Given the description of an element on the screen output the (x, y) to click on. 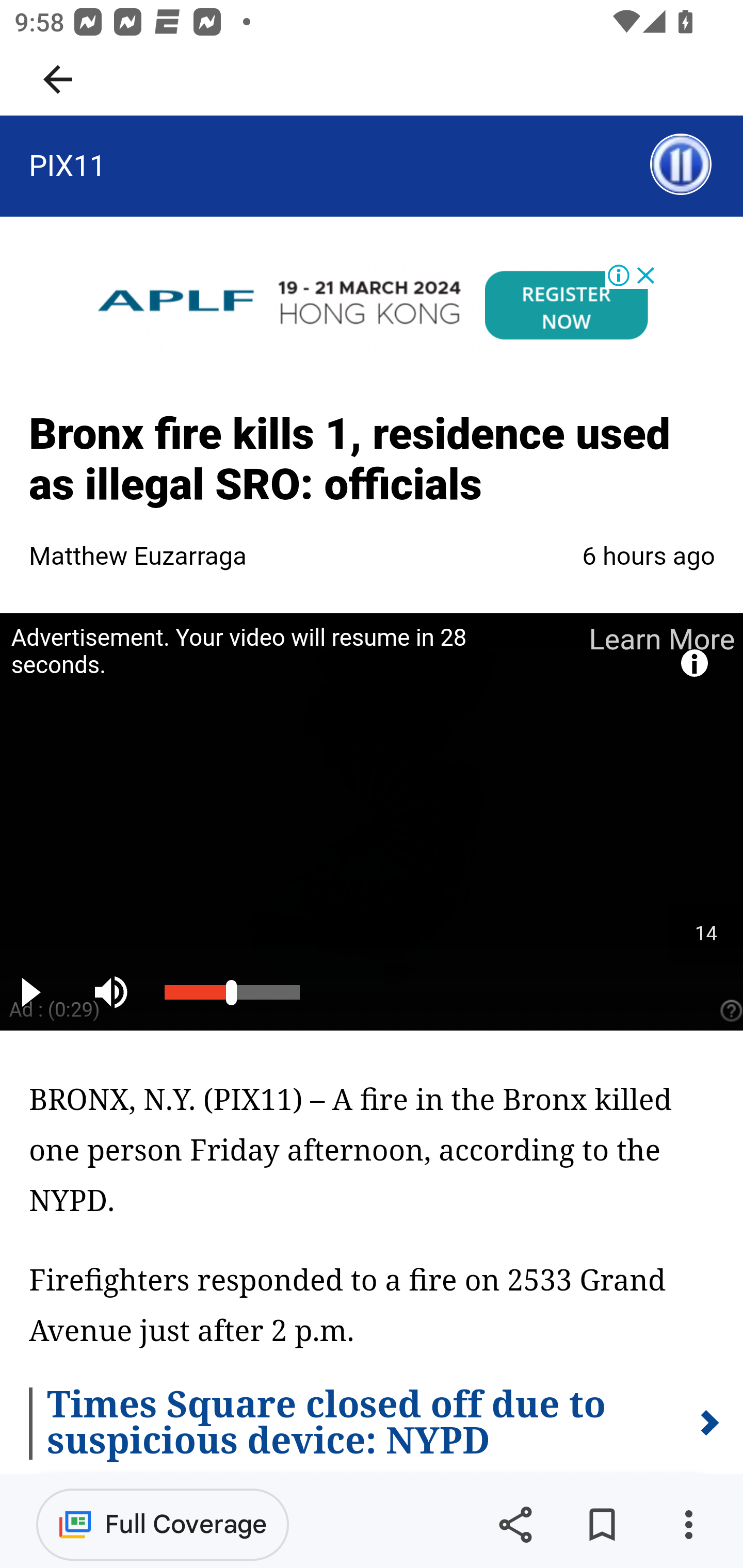
Navigate up (57, 79)
PIX11 cropped-WPIX_favicon-1 PIX11 (67, 165)
Learn More (660, 638)
Skip Ad Countdown (705, 933)
Play/pause the video (34, 991)
Adjust the volume (115, 991)
Ad : (0:29) (54, 1008)
help_outline_white_24dp_with_3px_trbl_padding (728, 1009)
Share (514, 1524)
Save for later (601, 1524)
More options (688, 1524)
Full Coverage (162, 1524)
